Given the description of an element on the screen output the (x, y) to click on. 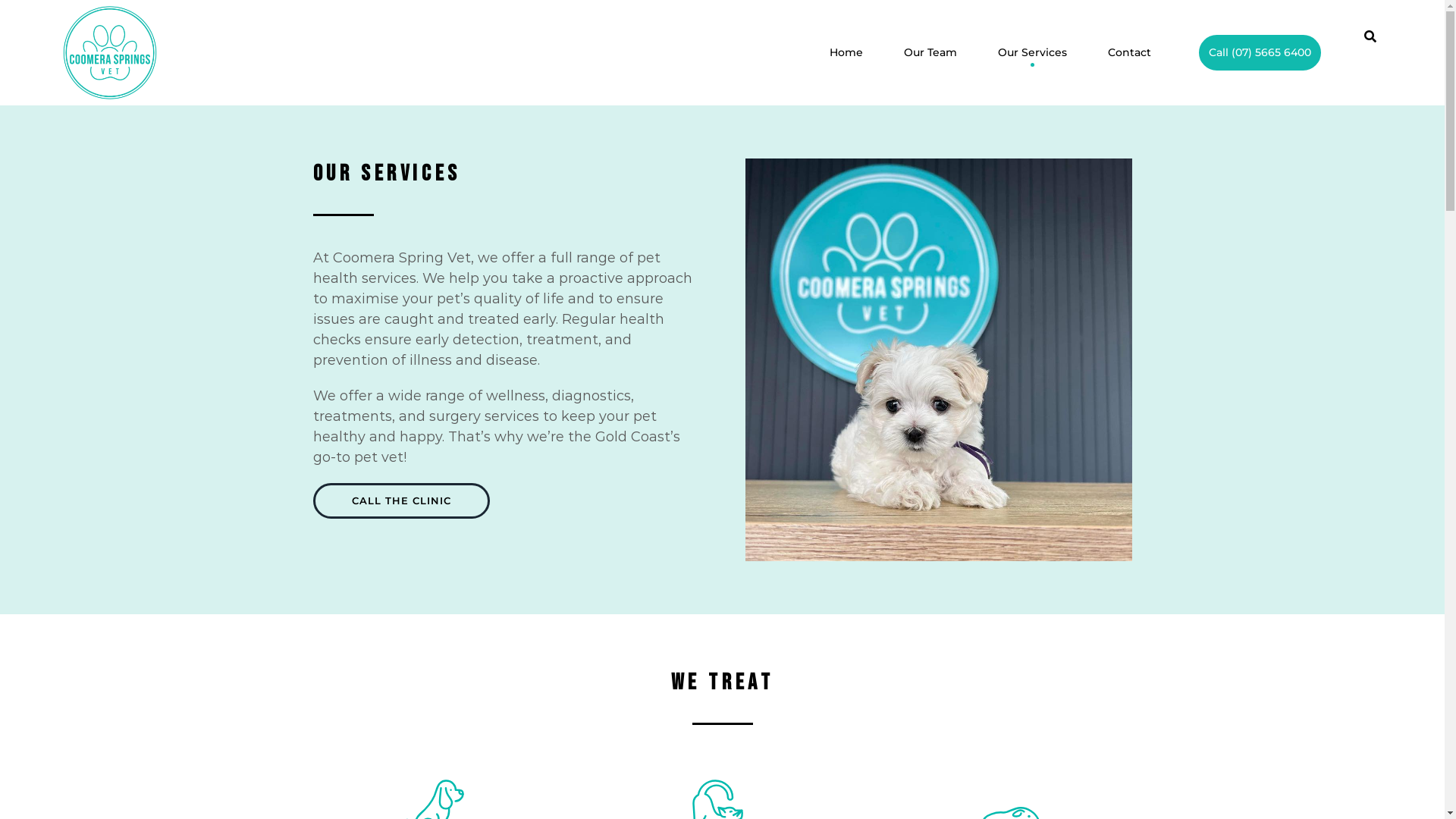
Home Element type: text (845, 52)
Call (07) 5665 6400 Element type: text (1259, 52)
Our Services Element type: text (1031, 52)
Contact Element type: text (1129, 52)
CALL THE CLINIC Element type: text (400, 500)
Our Team Element type: text (930, 52)
